Given the description of an element on the screen output the (x, y) to click on. 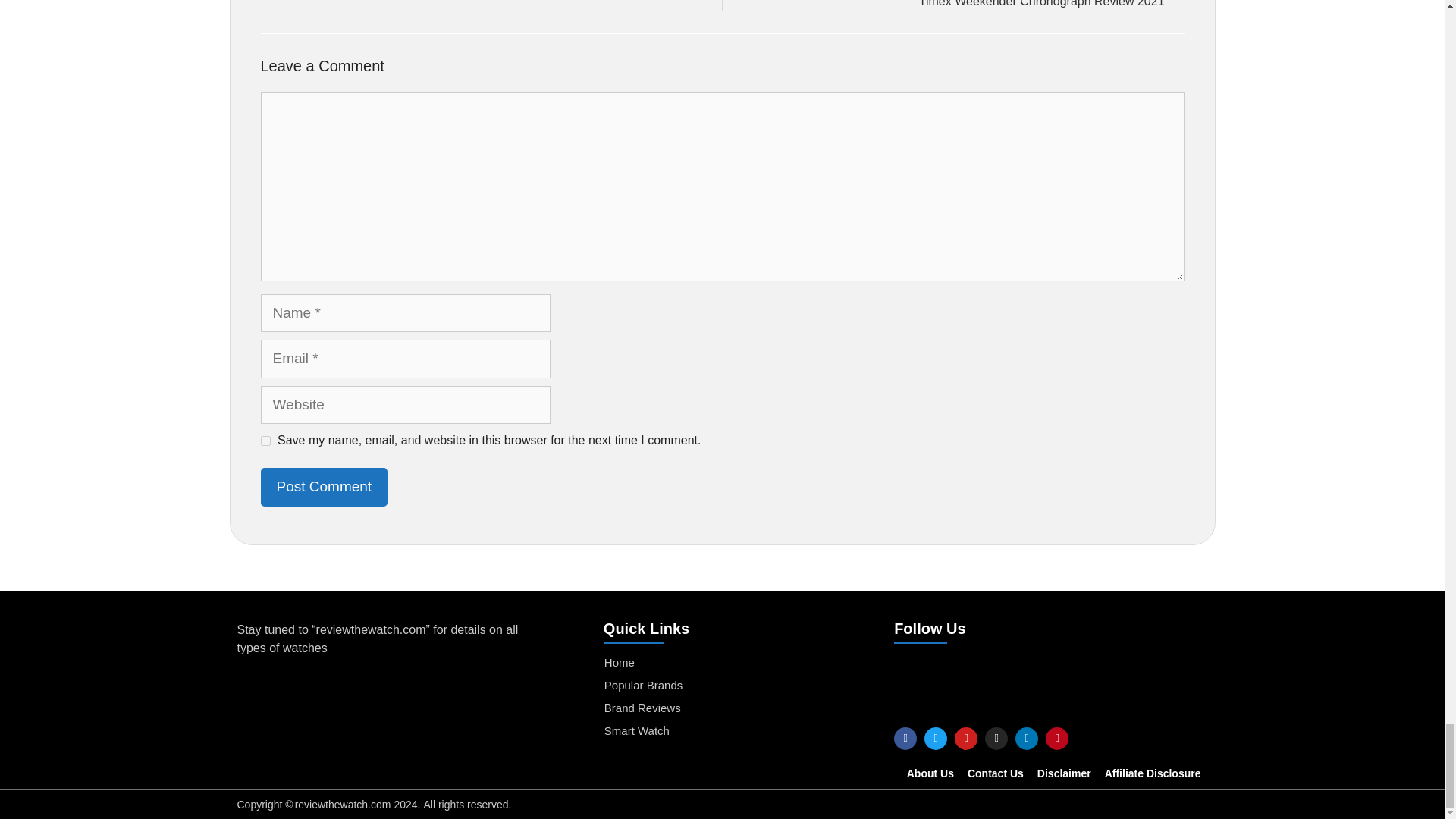
yes (265, 440)
Post Comment (324, 486)
